Given the description of an element on the screen output the (x, y) to click on. 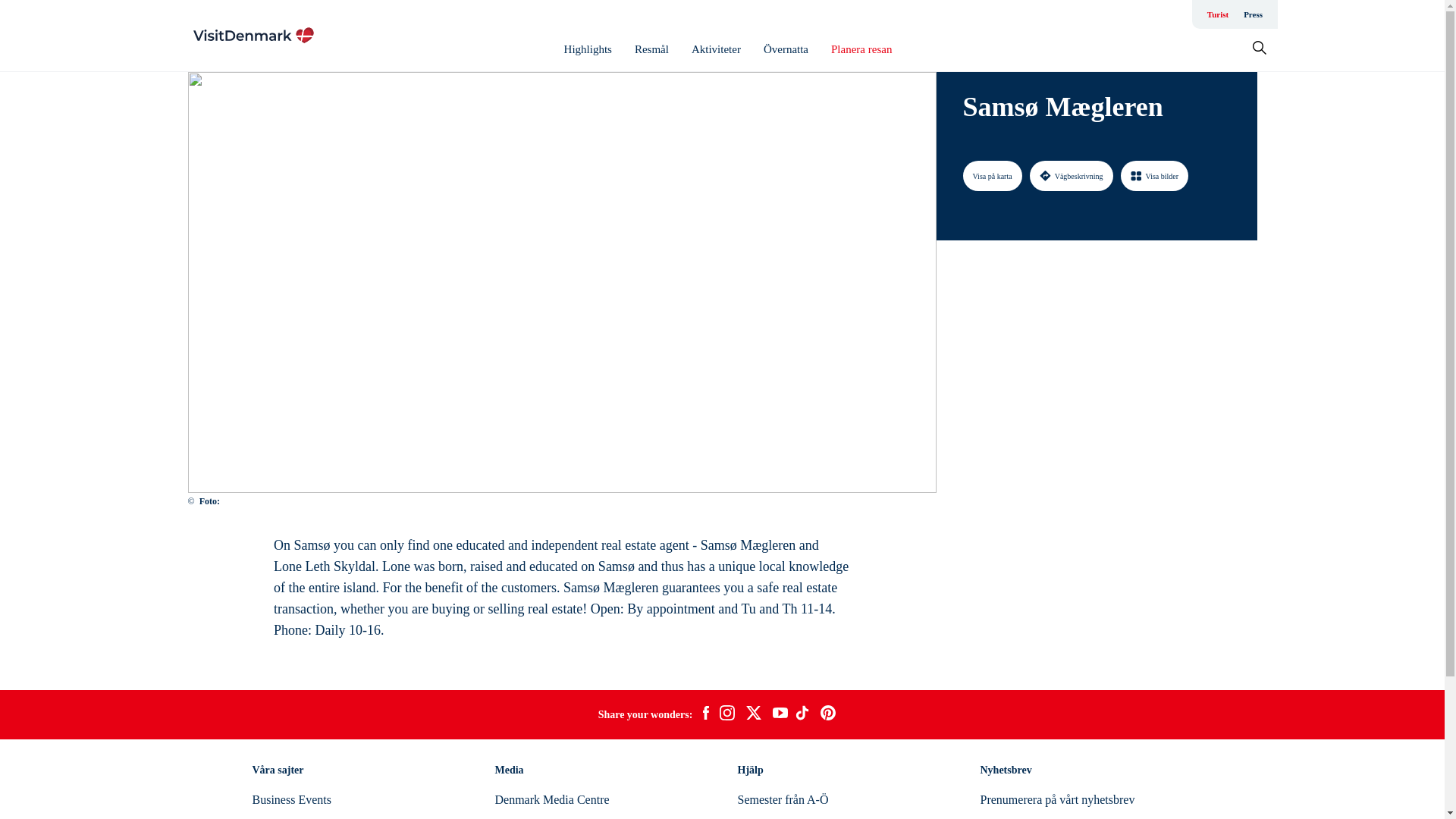
facebook (705, 714)
twitter (753, 714)
pinterest (828, 714)
youtube (780, 714)
Planera resan (861, 49)
Business Events (290, 799)
Denmark Media Centre (551, 799)
Go to homepage (253, 35)
Highlights (587, 49)
Press (1252, 14)
